Given the description of an element on the screen output the (x, y) to click on. 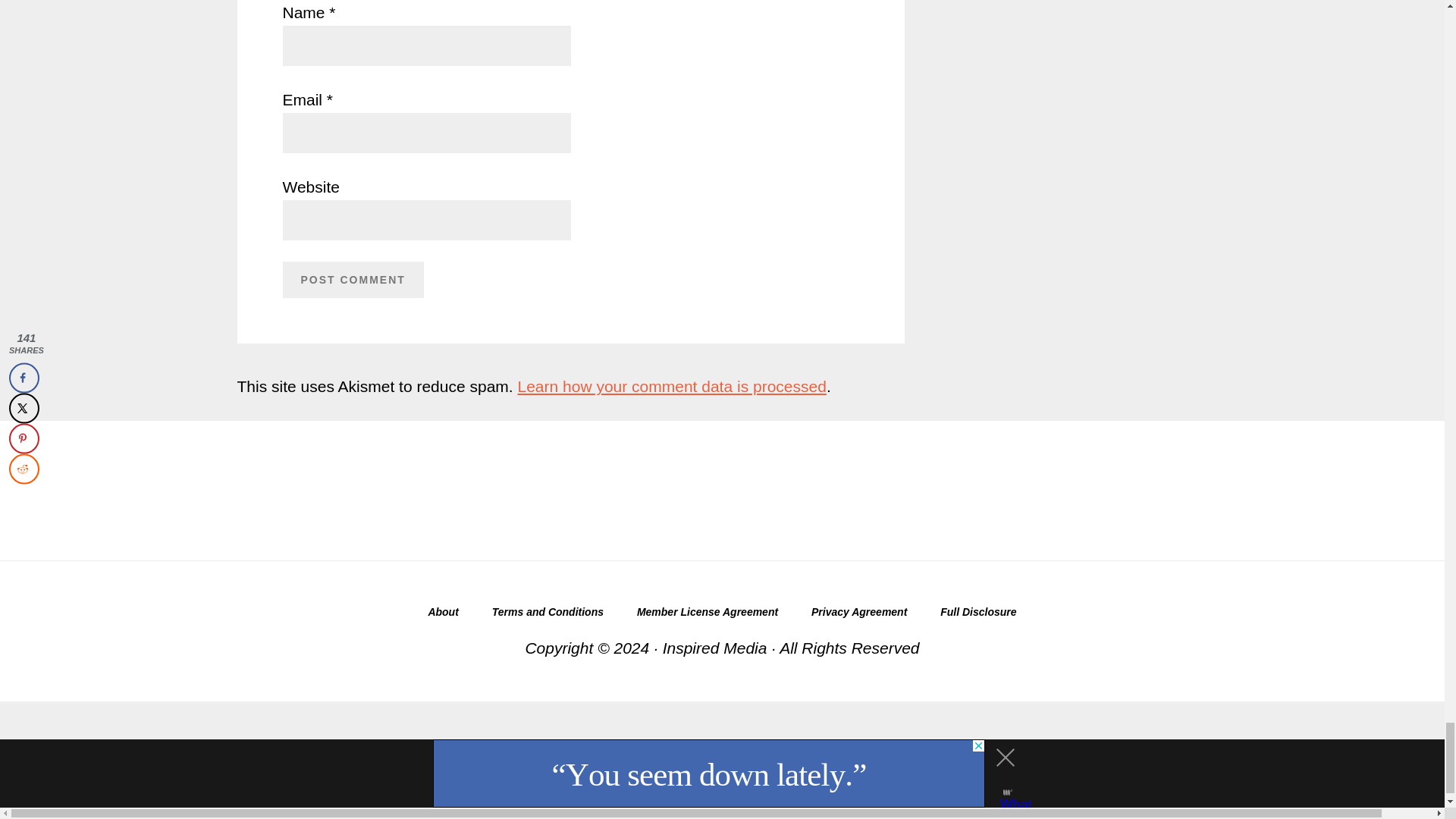
Post Comment (352, 279)
